Given the description of an element on the screen output the (x, y) to click on. 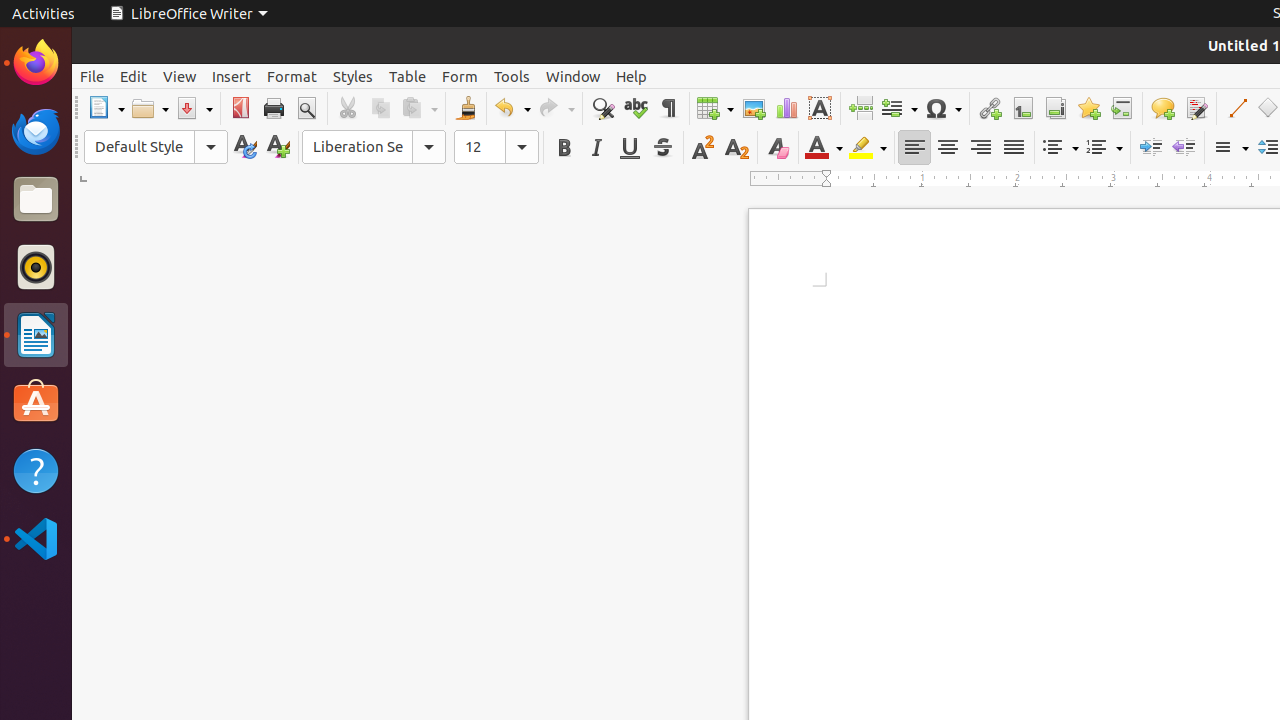
Footnote Element type: push-button (1022, 108)
Clear Element type: push-button (777, 147)
Left Element type: toggle-button (914, 147)
Underline Element type: push-button (629, 147)
Right Element type: toggle-button (980, 147)
